Given the description of an element on the screen output the (x, y) to click on. 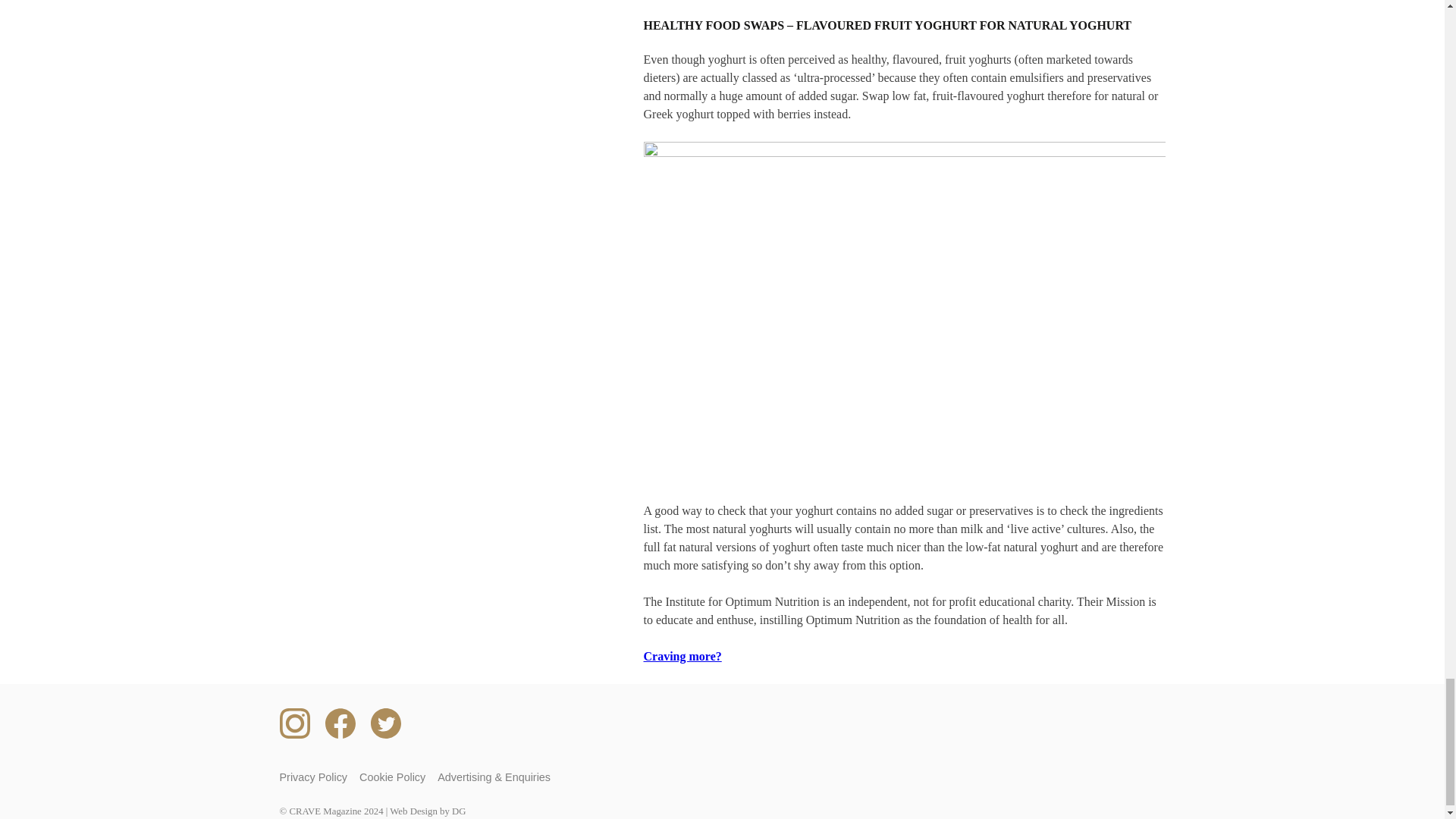
Privacy Policy (313, 776)
Cookie Policy (392, 776)
DG (458, 810)
Craving more? (681, 656)
